Given the description of an element on the screen output the (x, y) to click on. 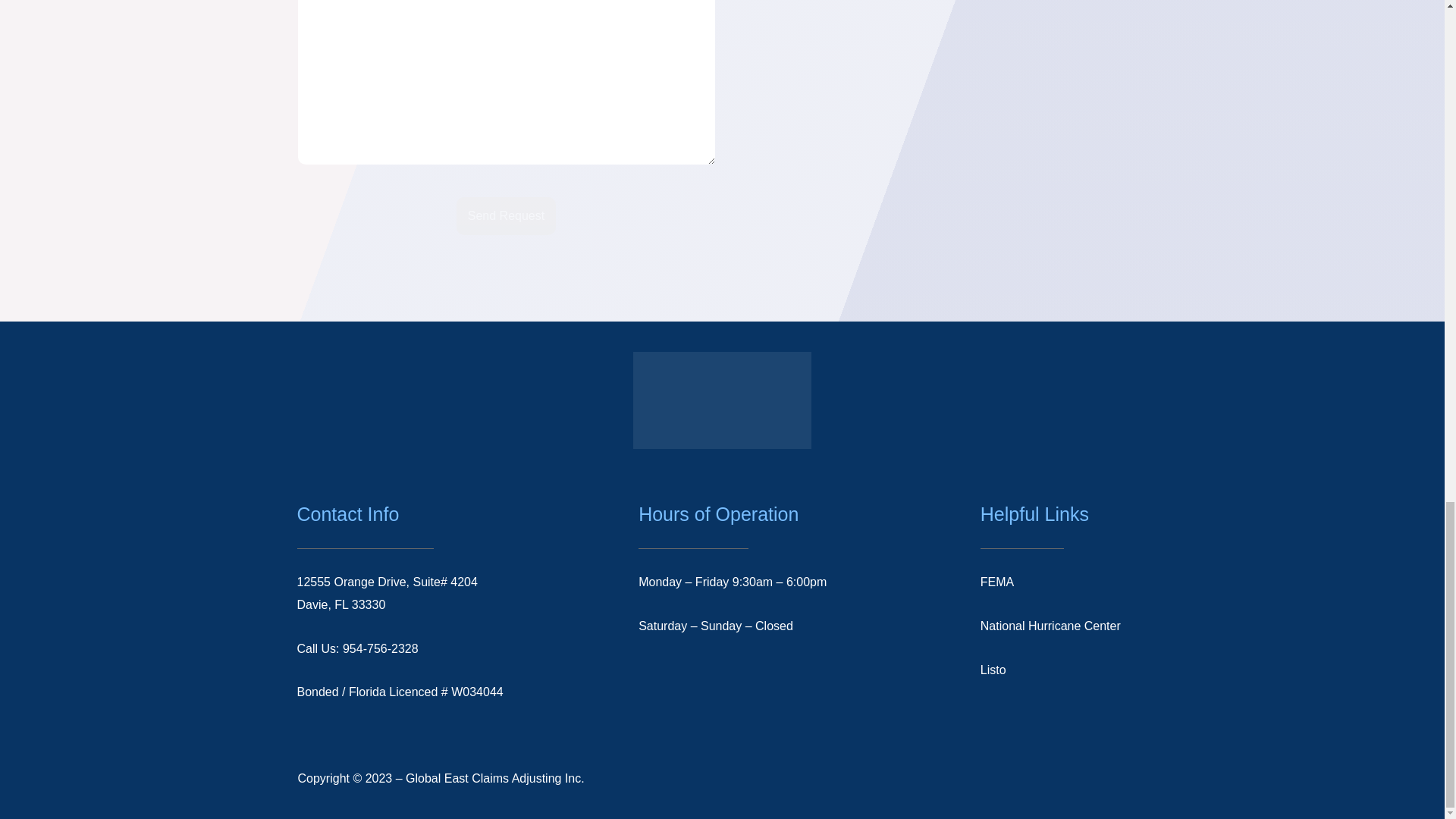
Listo (992, 669)
National Hurricane Center (1050, 625)
Send Request (506, 216)
FEMA (996, 581)
